Given the description of an element on the screen output the (x, y) to click on. 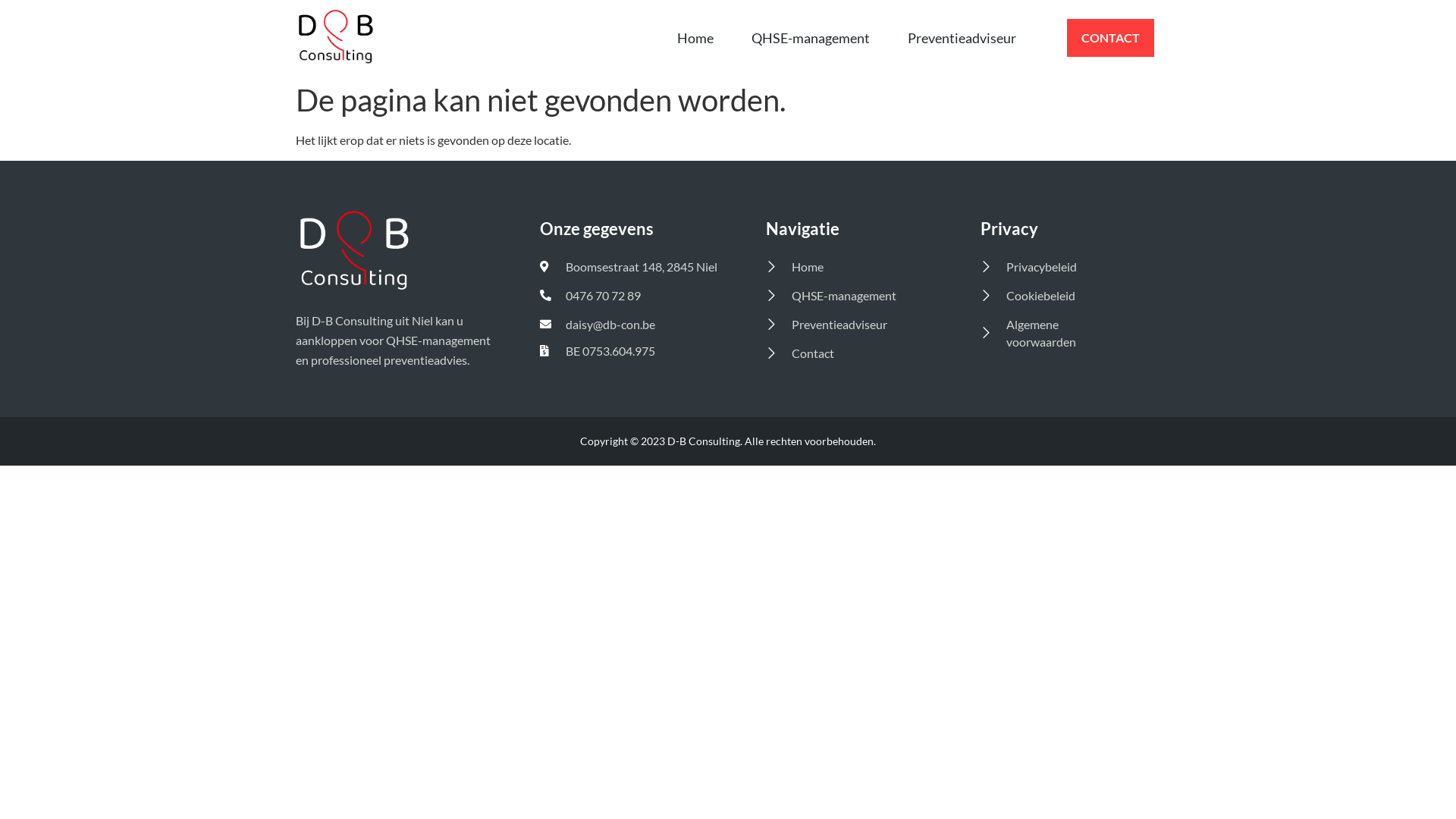
Contact Element type: text (851, 352)
Privacybeleid Element type: text (1054, 266)
Algemene voorwaarden Element type: text (1054, 332)
0476 70 72 89 Element type: text (631, 295)
Preventieadviseur Element type: text (961, 37)
Home Element type: text (695, 37)
Boomsestraat 148, 2845 Niel Element type: text (631, 266)
Preventieadviseur Element type: text (851, 323)
Home Element type: text (851, 266)
QHSE-management Element type: text (851, 295)
CONTACT Element type: text (1110, 37)
QHSE-management Element type: text (810, 37)
Cookiebeleid Element type: text (1054, 295)
daisy@db-con.be Element type: text (631, 323)
